Given the description of an element on the screen output the (x, y) to click on. 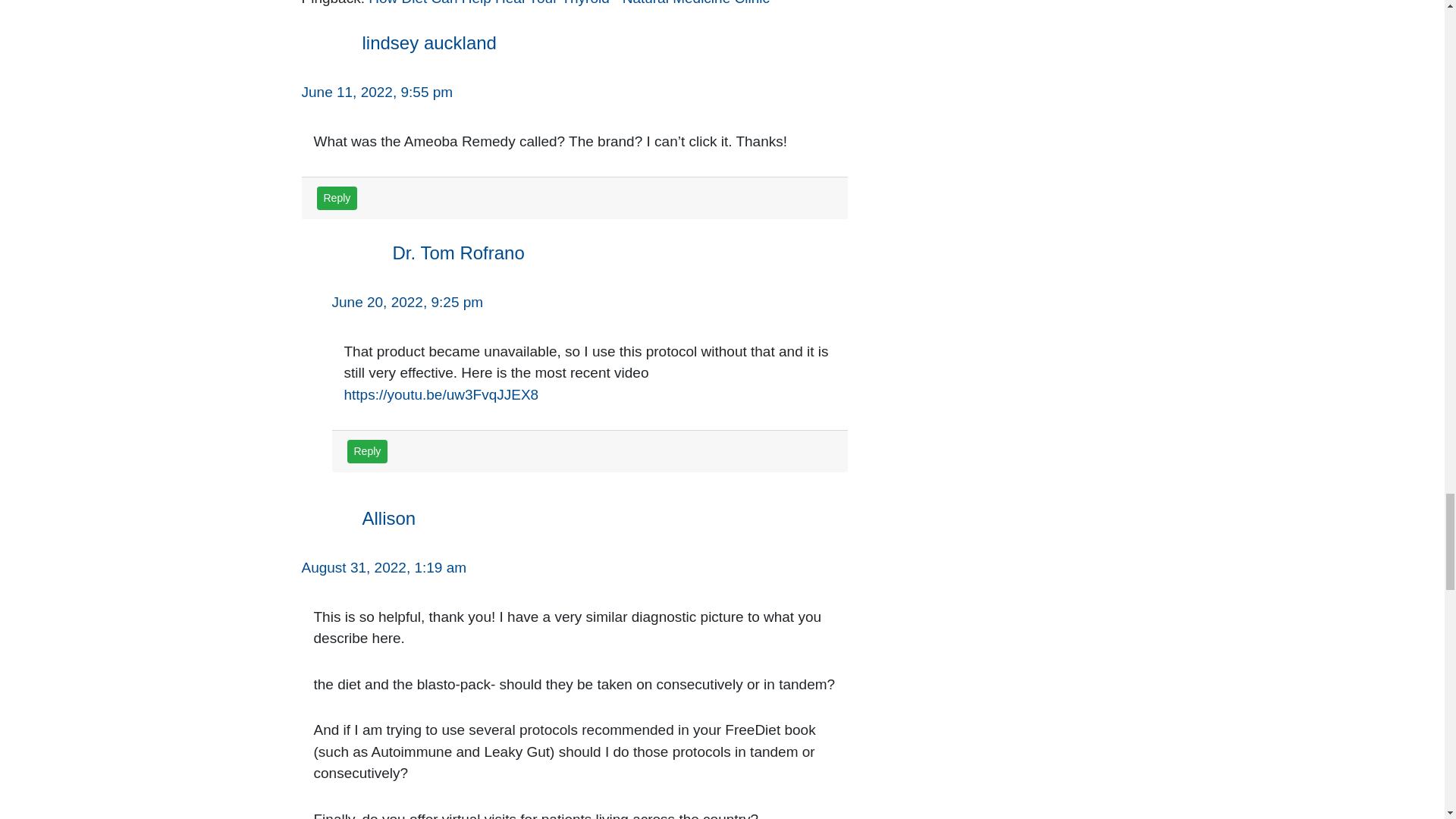
Reply (367, 451)
June 11, 2022, 9:55 pm (376, 91)
August 31, 2022, 1:19 am (384, 567)
Reply (337, 197)
June 20, 2022, 9:25 pm (407, 302)
